Given the description of an element on the screen output the (x, y) to click on. 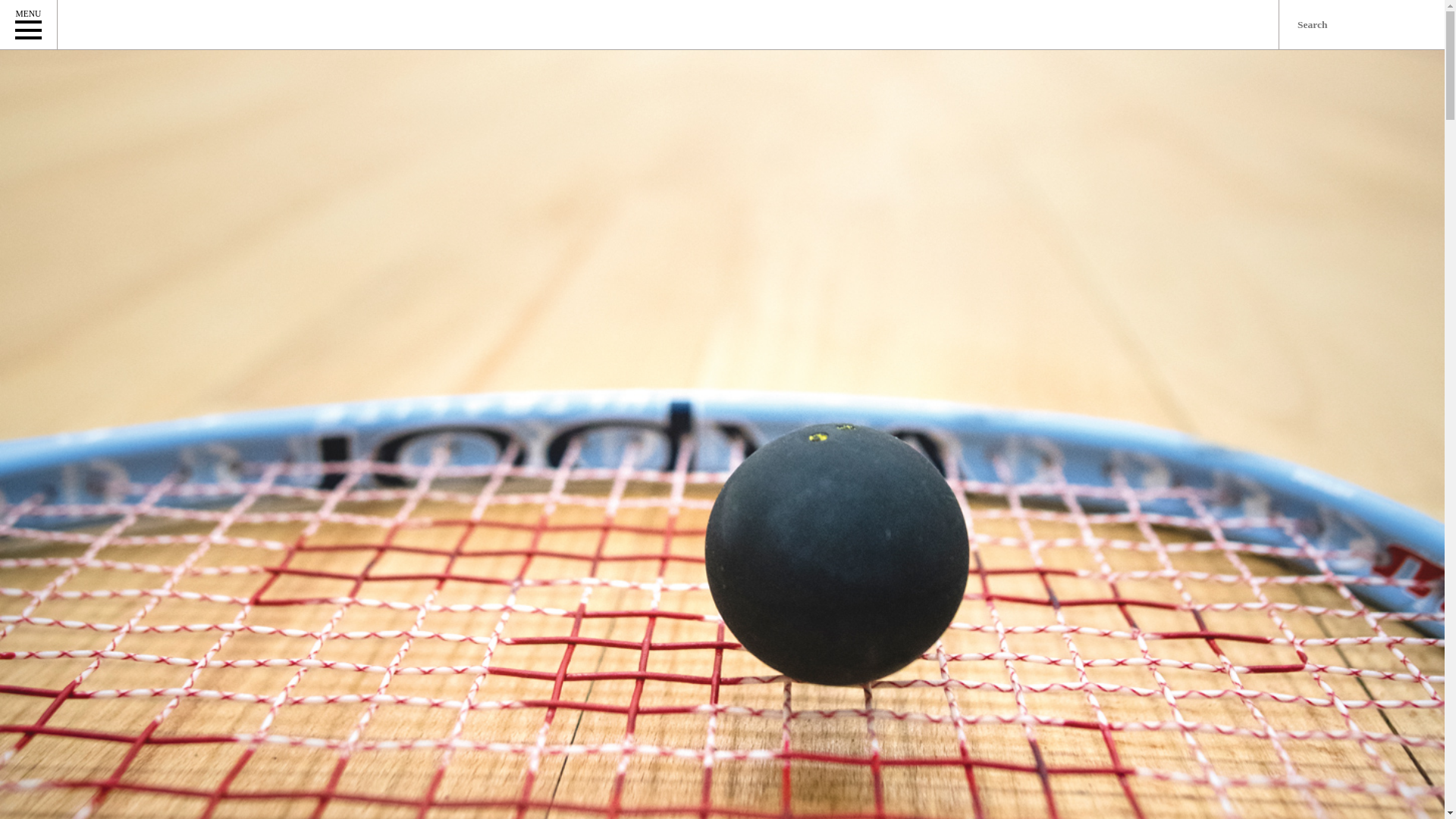
Search (18, 7)
Search for: (1361, 24)
site logo (188, 23)
